Given the description of an element on the screen output the (x, y) to click on. 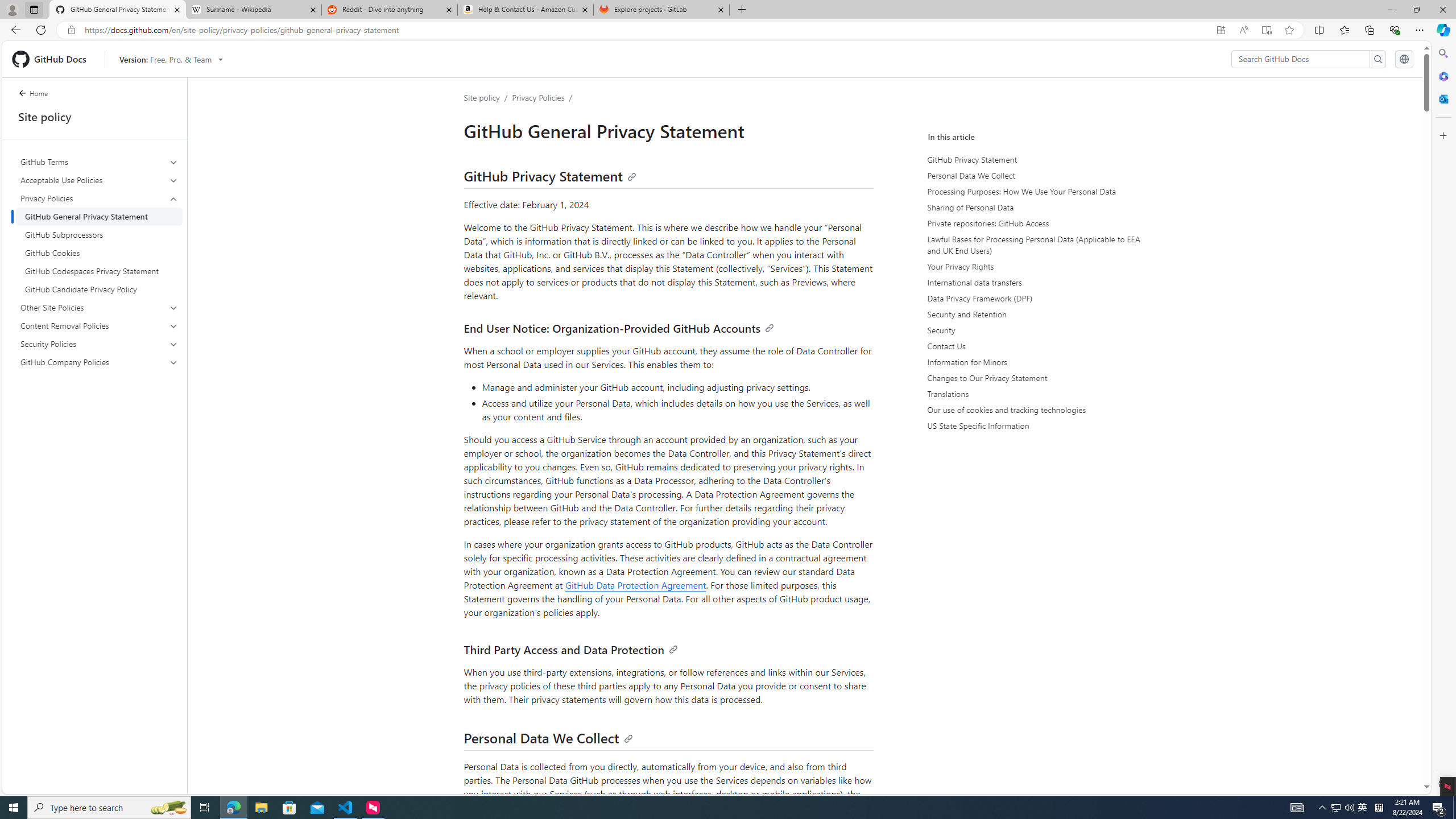
Security Policies (99, 343)
Translations (1032, 394)
GitHub Data Protection Agreement (635, 585)
GitHub General Privacy Statement (99, 216)
Changes to Our Privacy Statement (1032, 378)
US State Specific Information (1032, 425)
GitHub Terms (99, 162)
Security Policies (99, 343)
US State Specific Information (1034, 425)
International data transfers (1034, 282)
Sharing of Personal Data (1034, 207)
GitHub Subprocessors (99, 235)
